Given the description of an element on the screen output the (x, y) to click on. 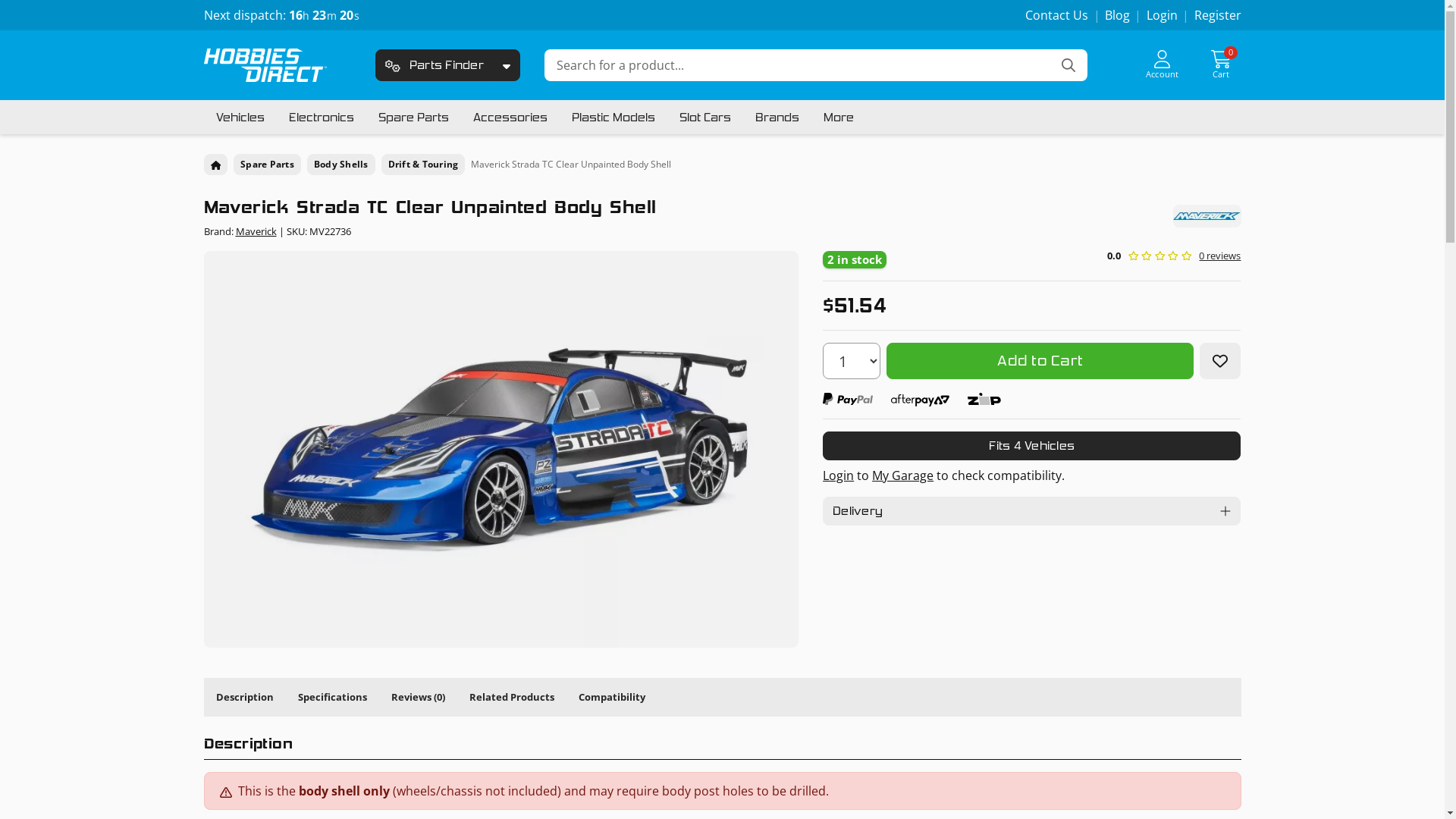
Fits 4 Vehicles Element type: text (1031, 445)
Parts Finder Element type: text (434, 65)
Accessories Element type: text (510, 117)
Electronics Element type: text (320, 117)
Add to Cart Element type: text (1039, 360)
Related Products Element type: text (510, 696)
Description Element type: text (244, 696)
Spare Parts Element type: text (267, 164)
Brands Element type: text (777, 117)
0 reviews Element type: text (1219, 255)
Compatibility Element type: text (610, 696)
Plastic Models Element type: text (613, 117)
Account Element type: text (1162, 64)
Login Element type: text (1161, 14)
Body Shells Element type: text (341, 164)
Maverick Element type: text (255, 231)
Drift & Touring Element type: text (422, 164)
Spare Parts Element type: text (412, 117)
Slot Cars Element type: text (705, 117)
Specifications Element type: text (331, 696)
Contact Us Element type: text (1056, 14)
Vehicles Element type: text (239, 117)
Register Element type: text (1216, 14)
Delivery Element type: text (1031, 510)
0
Cart Element type: text (1221, 64)
Blog Element type: text (1116, 14)
Login Element type: text (837, 475)
Reviews (0) Element type: text (418, 696)
My Garage Element type: text (902, 475)
